Given the description of an element on the screen output the (x, y) to click on. 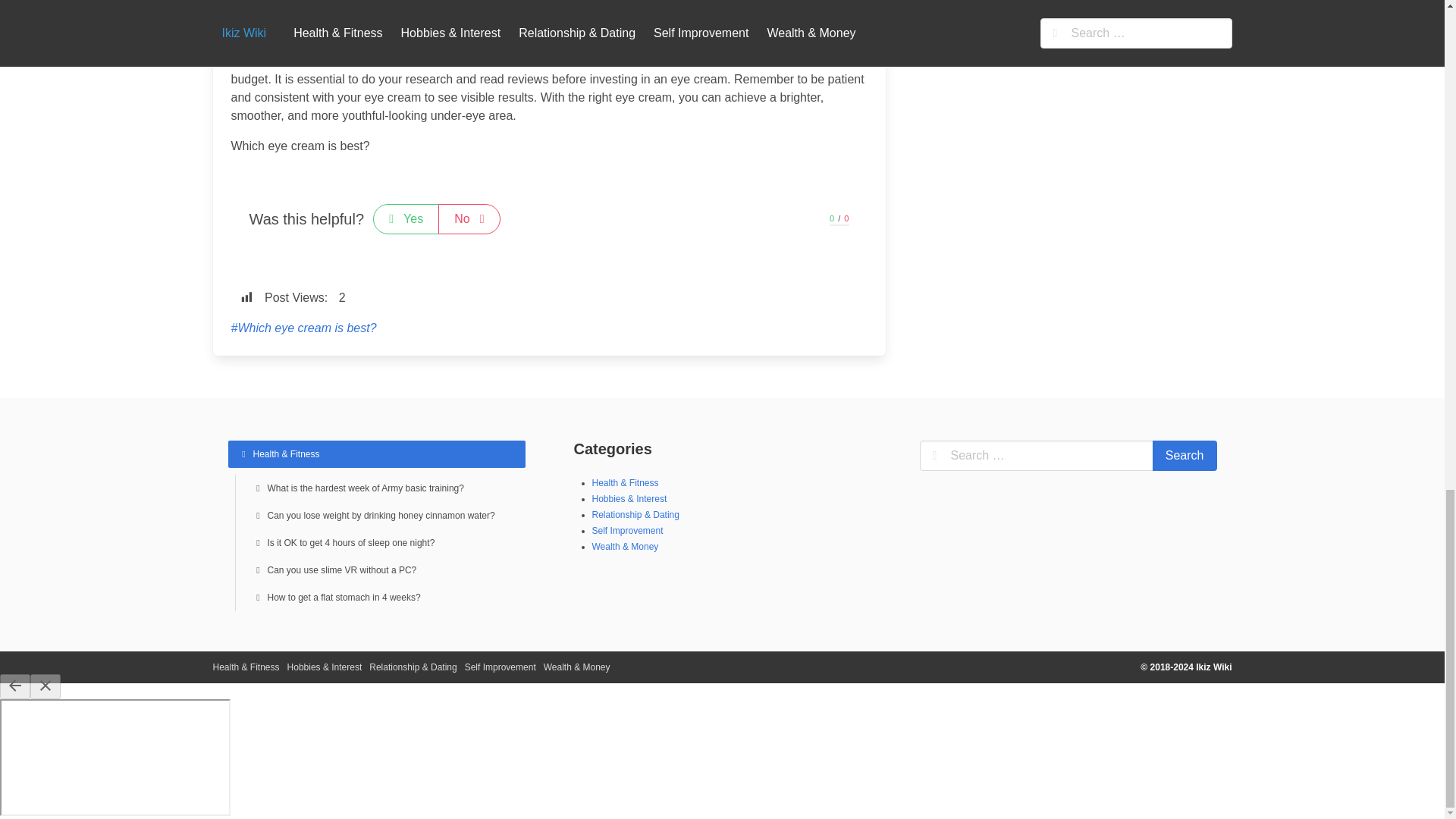
Yes (405, 218)
No (468, 218)
Search (1185, 455)
